Given the description of an element on the screen output the (x, y) to click on. 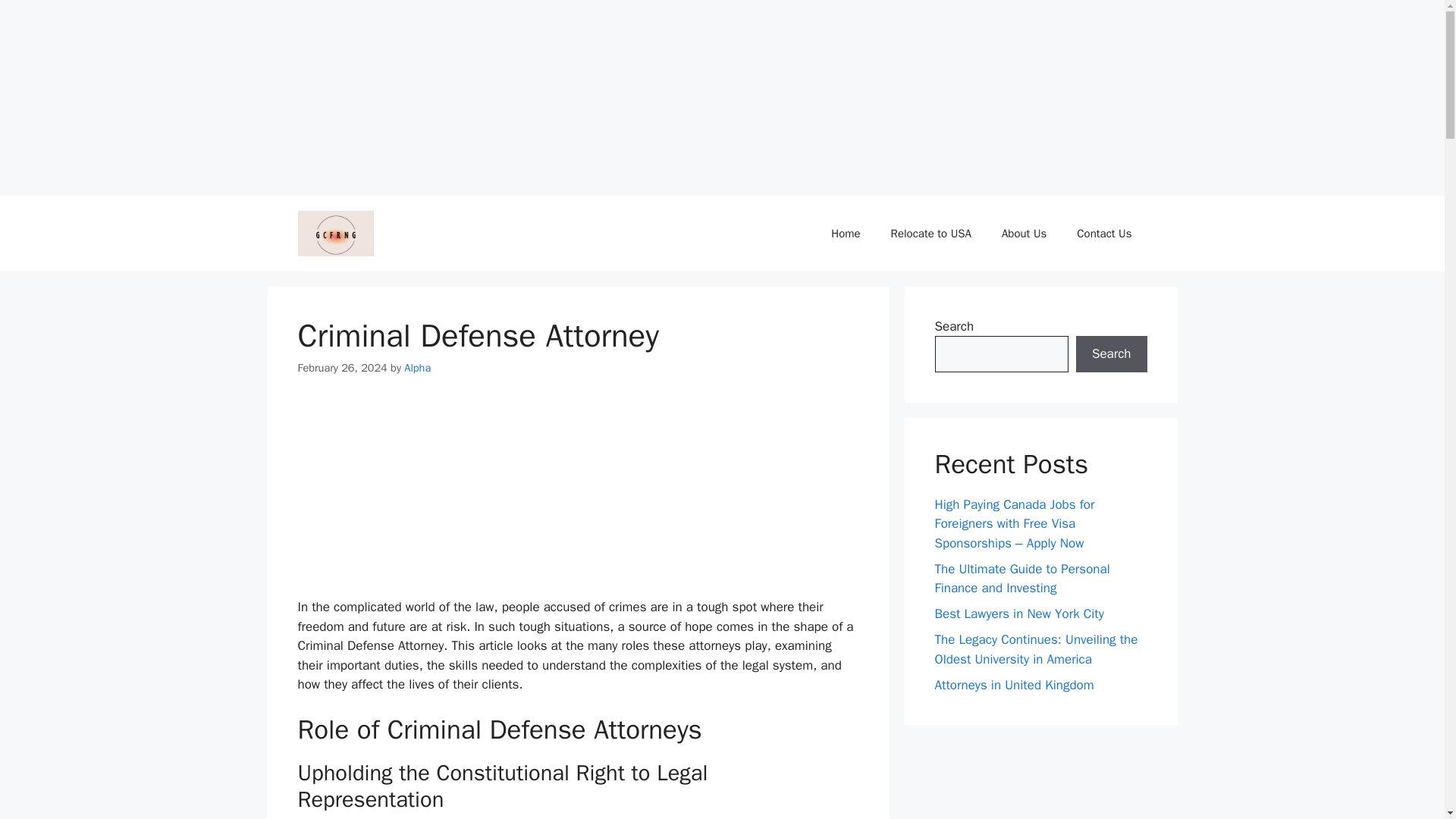
Search (1111, 353)
Advertisement (410, 497)
The Ultimate Guide to Personal Finance and Investing (1021, 579)
About Us (1024, 233)
Advertisement (113, 94)
Best Lawyers in New York City (1018, 613)
View all posts by Alpha (417, 367)
Home (845, 233)
Relocate to USA (931, 233)
